Given the description of an element on the screen output the (x, y) to click on. 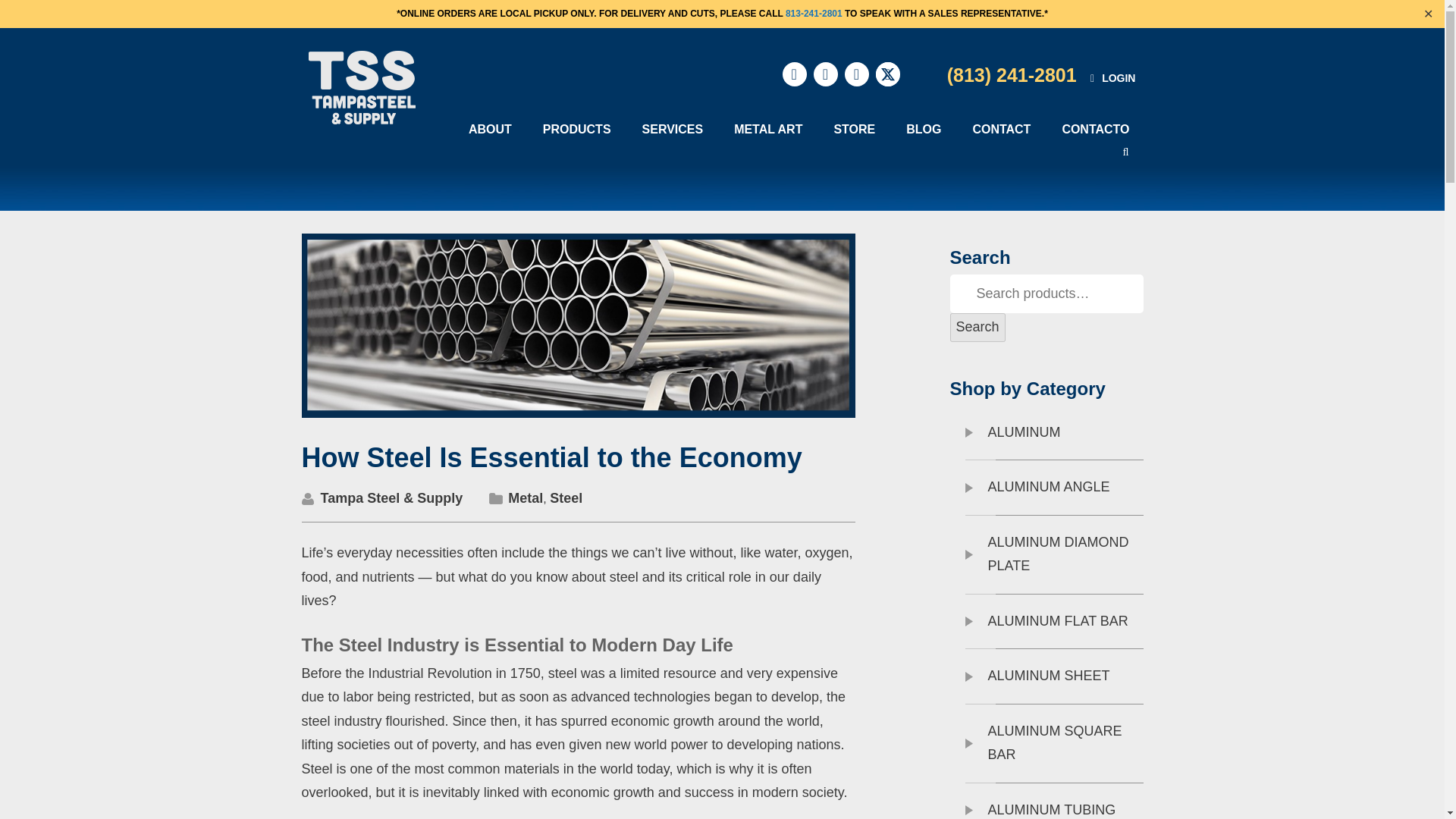
STORE (854, 128)
SERVICES (672, 128)
CONTACT (1001, 128)
ABOUT (489, 128)
Twitter (887, 74)
813-241-2801 (814, 13)
LinkedIn (825, 74)
CONTACTO (1094, 128)
PRODUCTS (577, 128)
Facebook (794, 74)
Instagram (856, 74)
Metal Art (767, 128)
METAL ART (767, 128)
LOGIN (1112, 77)
BLOG (923, 128)
